Given the description of an element on the screen output the (x, y) to click on. 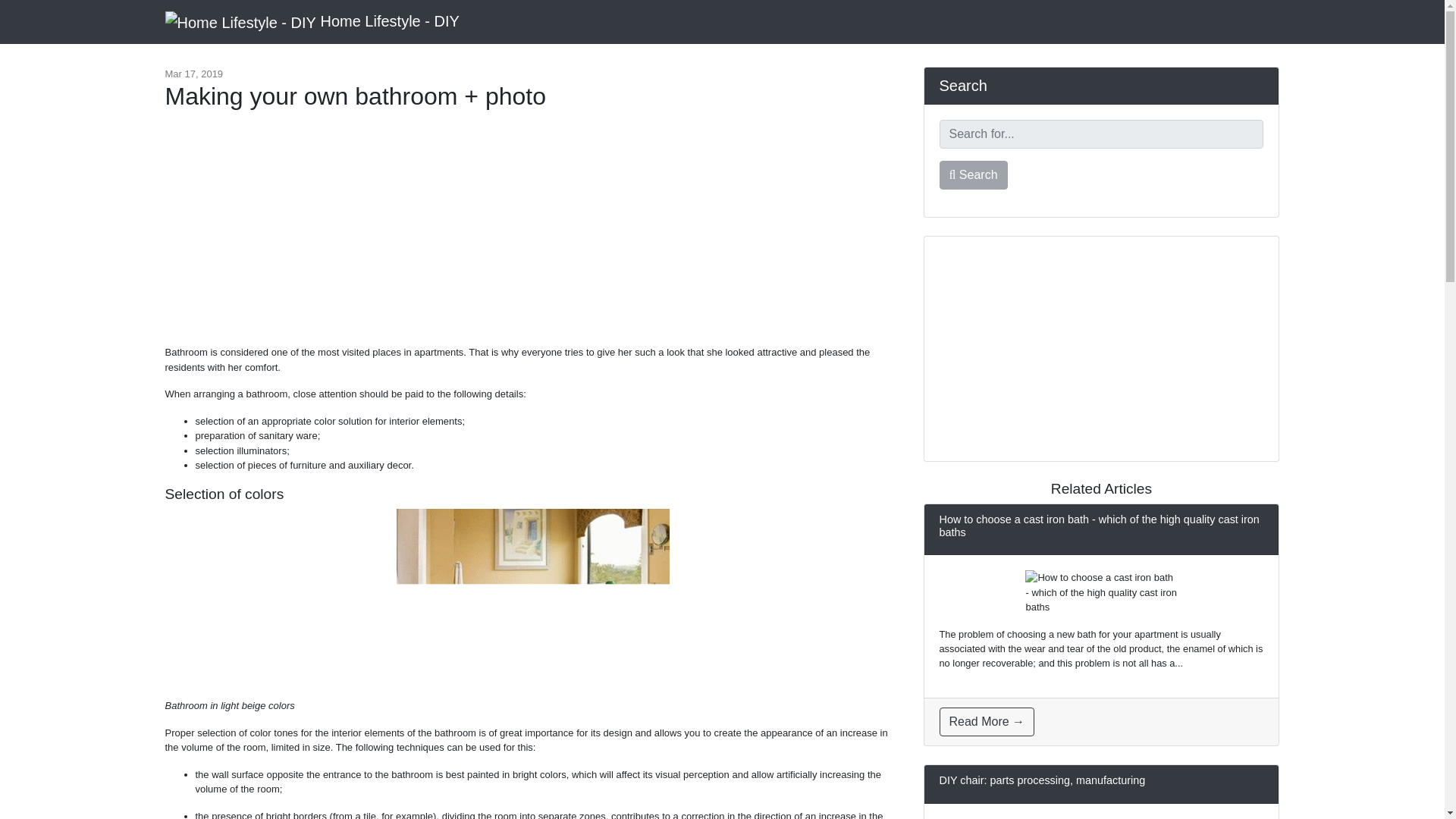
Home Lifestyle - DIY (312, 21)
Search (973, 174)
